Given the description of an element on the screen output the (x, y) to click on. 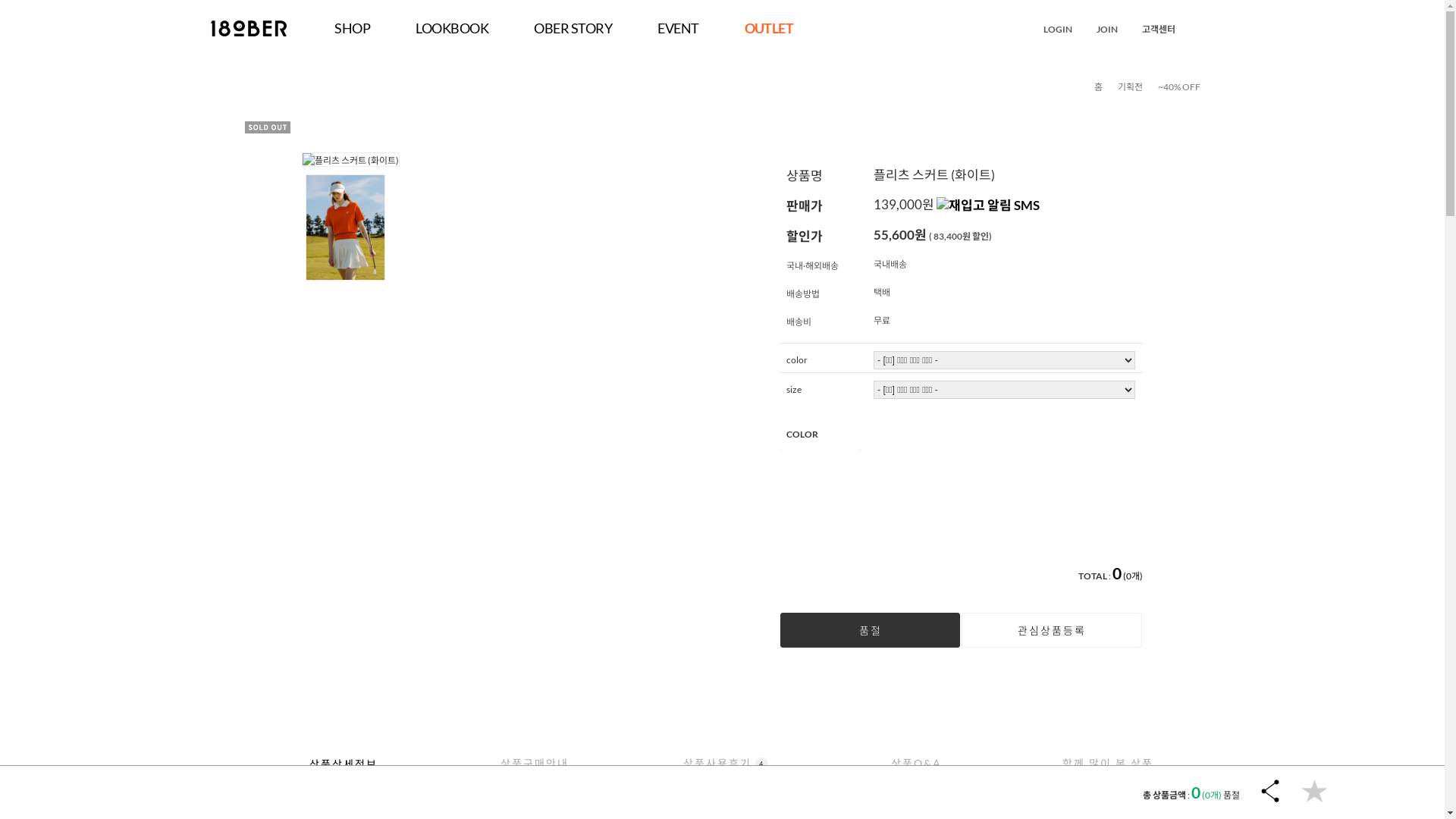
OBER STORY Element type: text (572, 27)
JOIN Element type: text (1107, 28)
EVENT Element type: text (677, 27)
LOGIN Element type: text (1058, 28)
~40% OFF Element type: text (1178, 86)
SHOP Element type: text (352, 27)
LOOKBOOK Element type: text (451, 27)
OUTLET Element type: text (768, 27)
